Given the description of an element on the screen output the (x, y) to click on. 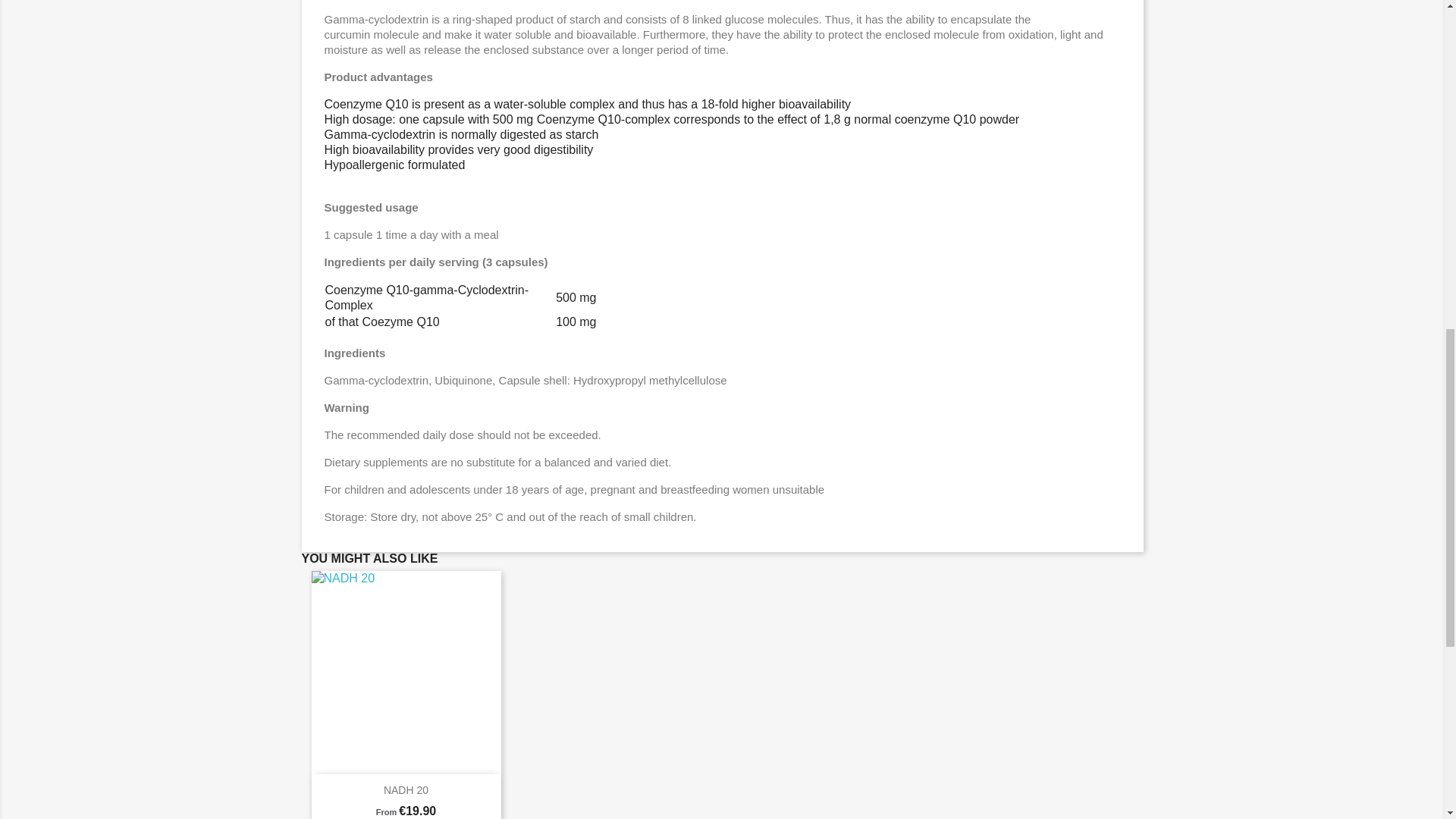
Page 16 (722, 380)
